Given the description of an element on the screen output the (x, y) to click on. 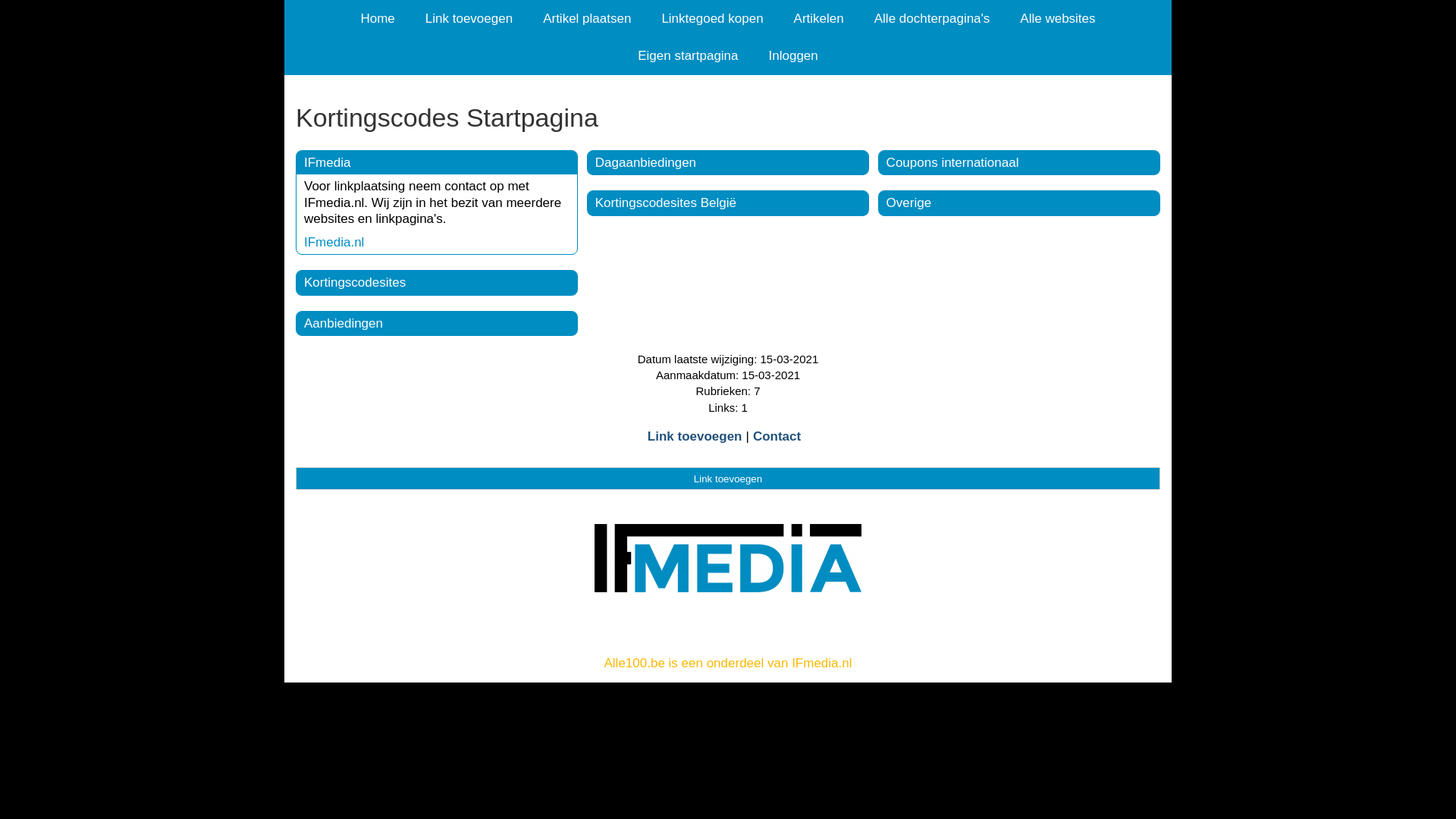
Artikelen Element type: text (818, 18)
Alle dochterpagina's Element type: text (932, 18)
Home Element type: text (377, 18)
Link toevoegen Element type: text (468, 18)
Link toevoegen Element type: text (727, 478)
IFmedia.nl Element type: text (334, 242)
Link toevoegen Element type: text (694, 436)
Alle websites Element type: text (1057, 18)
Eigen startpagina Element type: text (687, 55)
Linktegoed kopen Element type: text (712, 18)
Contact Element type: text (776, 436)
Inloggen Element type: text (793, 55)
Kortingscodes Startpagina Element type: text (727, 117)
Artikel plaatsen Element type: text (586, 18)
